Given the description of an element on the screen output the (x, y) to click on. 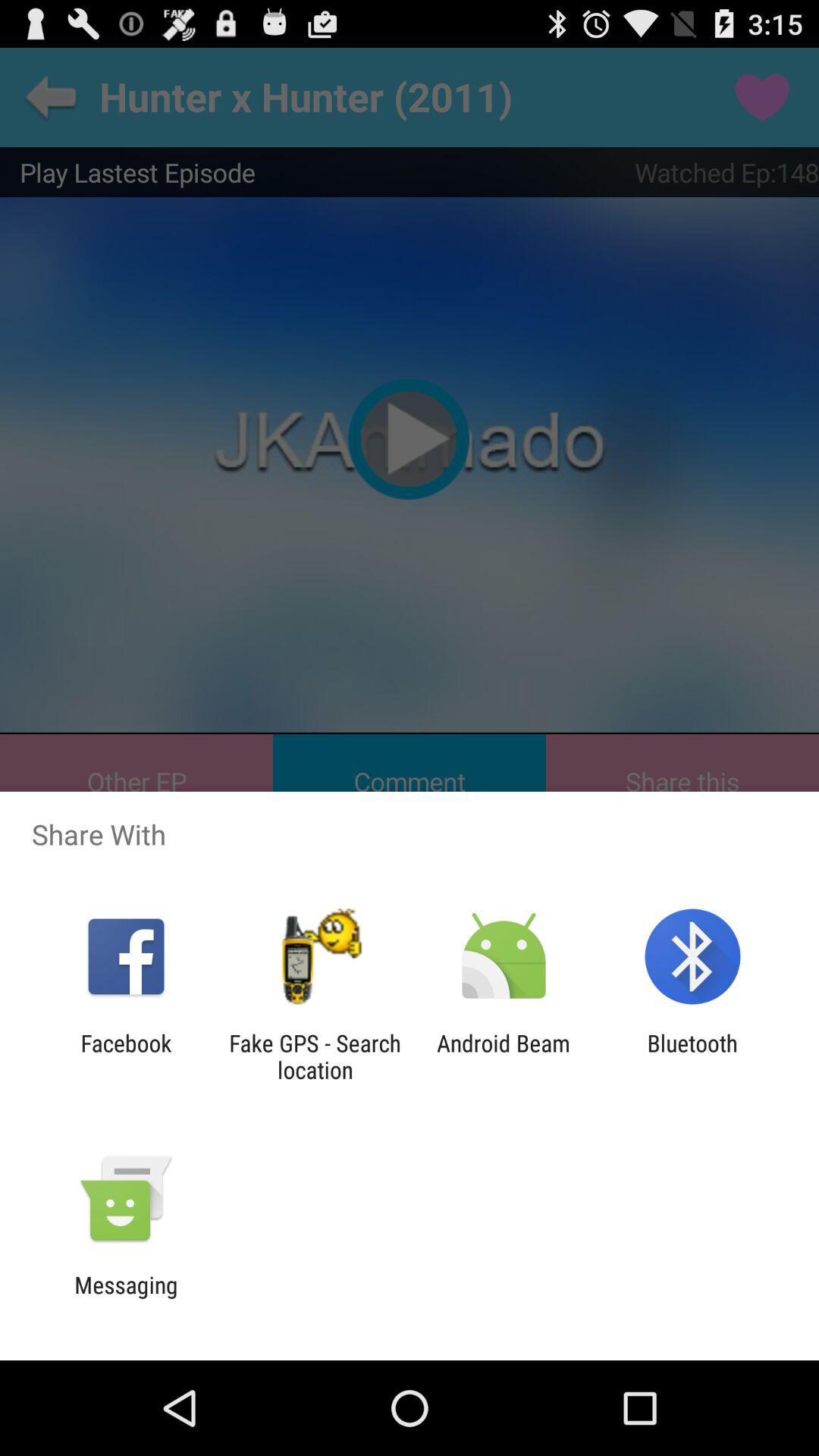
launch the item to the left of android beam item (314, 1056)
